Given the description of an element on the screen output the (x, y) to click on. 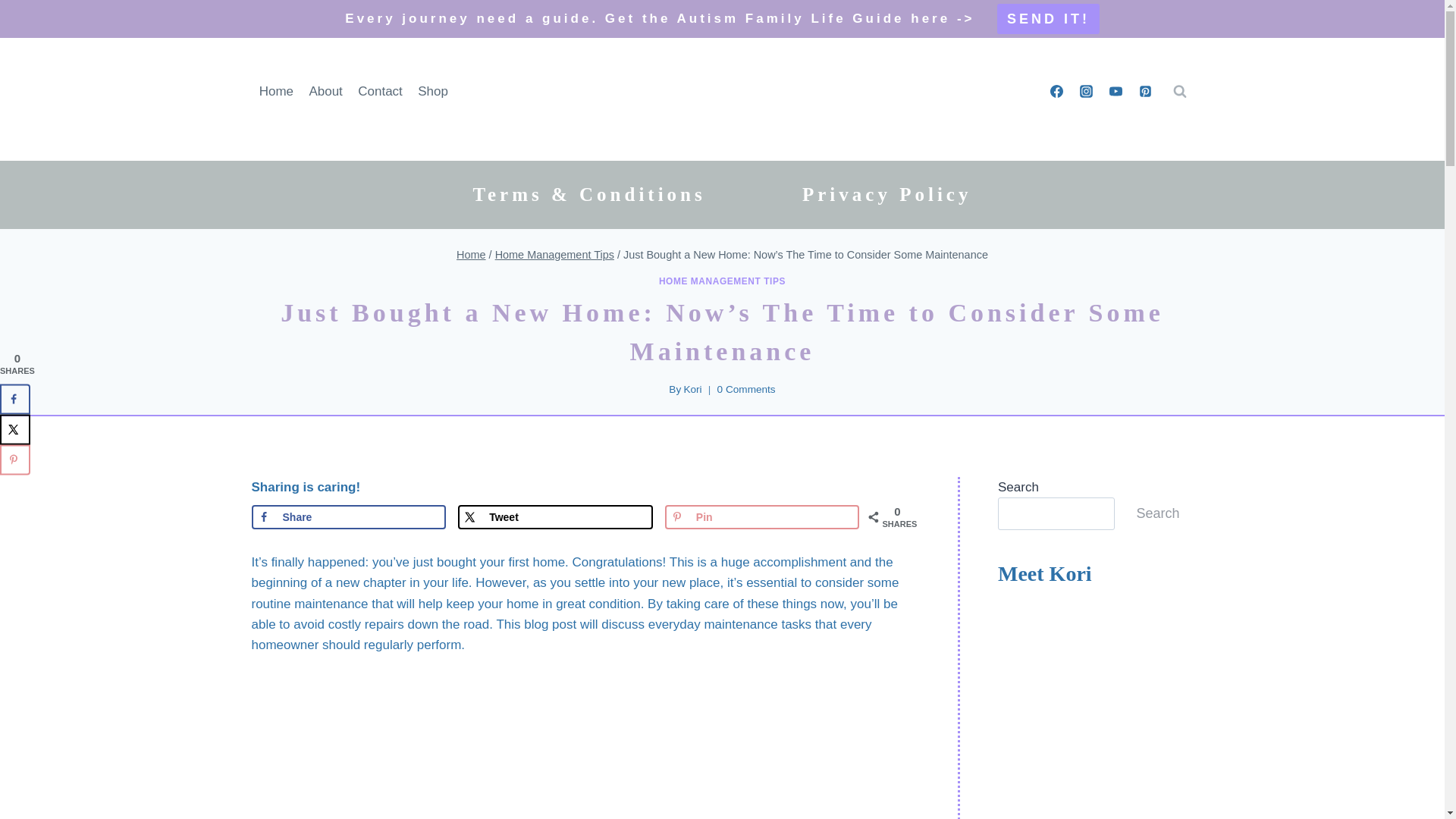
Home (471, 254)
SEND IT! (1048, 19)
Share on Facebook (348, 517)
Pin (762, 517)
Save to Pinterest (762, 517)
Shop (432, 91)
Kori (691, 389)
Home Management Tips (554, 254)
Contact (380, 91)
Privacy Policy (887, 194)
Home (276, 91)
HOME MANAGEMENT TIPS (722, 281)
Tweet (555, 517)
Share (348, 517)
0 Comments (746, 389)
